Given the description of an element on the screen output the (x, y) to click on. 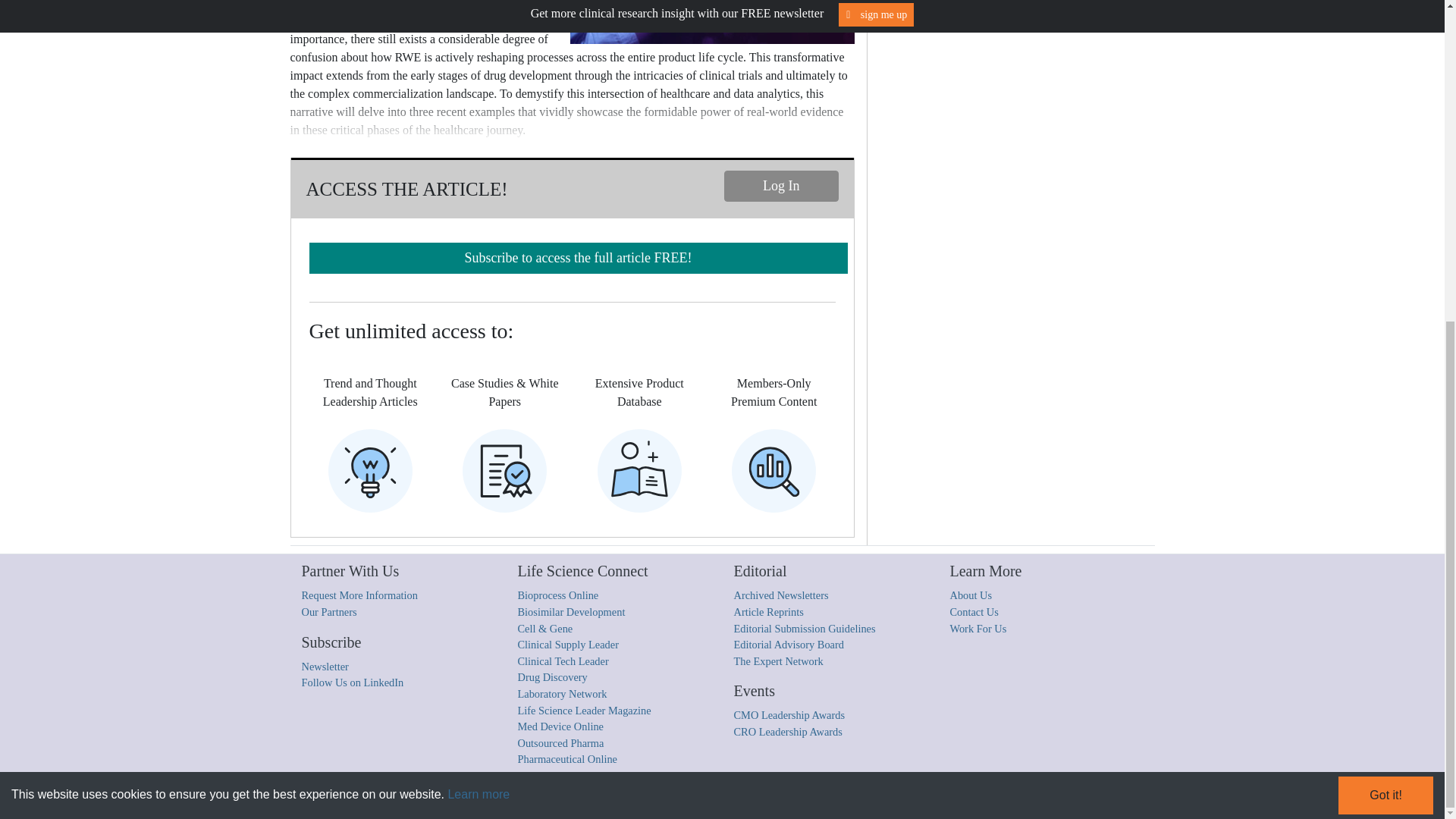
Log In (780, 185)
Subscribe to access the full article FREE! (577, 257)
GettyImages-1356381571 world data (708, 22)
